Given the description of an element on the screen output the (x, y) to click on. 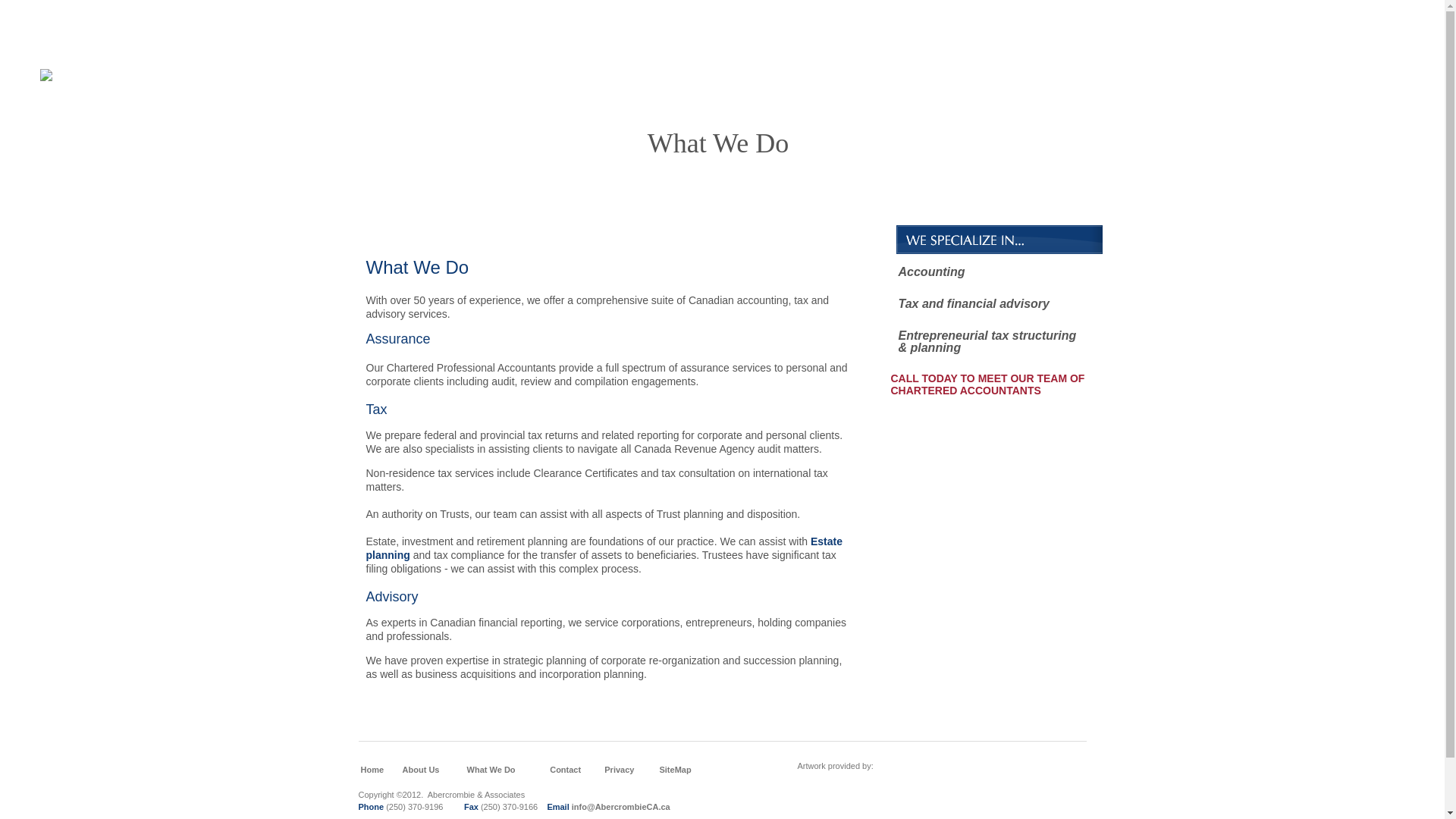
Privacy Element type: text (618, 769)
info@AbercrombieCA.ca Element type: text (620, 806)
About Us Element type: text (420, 769)
Contact Element type: text (564, 769)
Home Element type: text (372, 769)
What We Do Element type: text (491, 769)
CALL TODAY TO MEET OUR TEAM OF CHARTERED ACCOUNTANTS Element type: text (987, 390)
SiteMap Element type: text (674, 769)
